Given the description of an element on the screen output the (x, y) to click on. 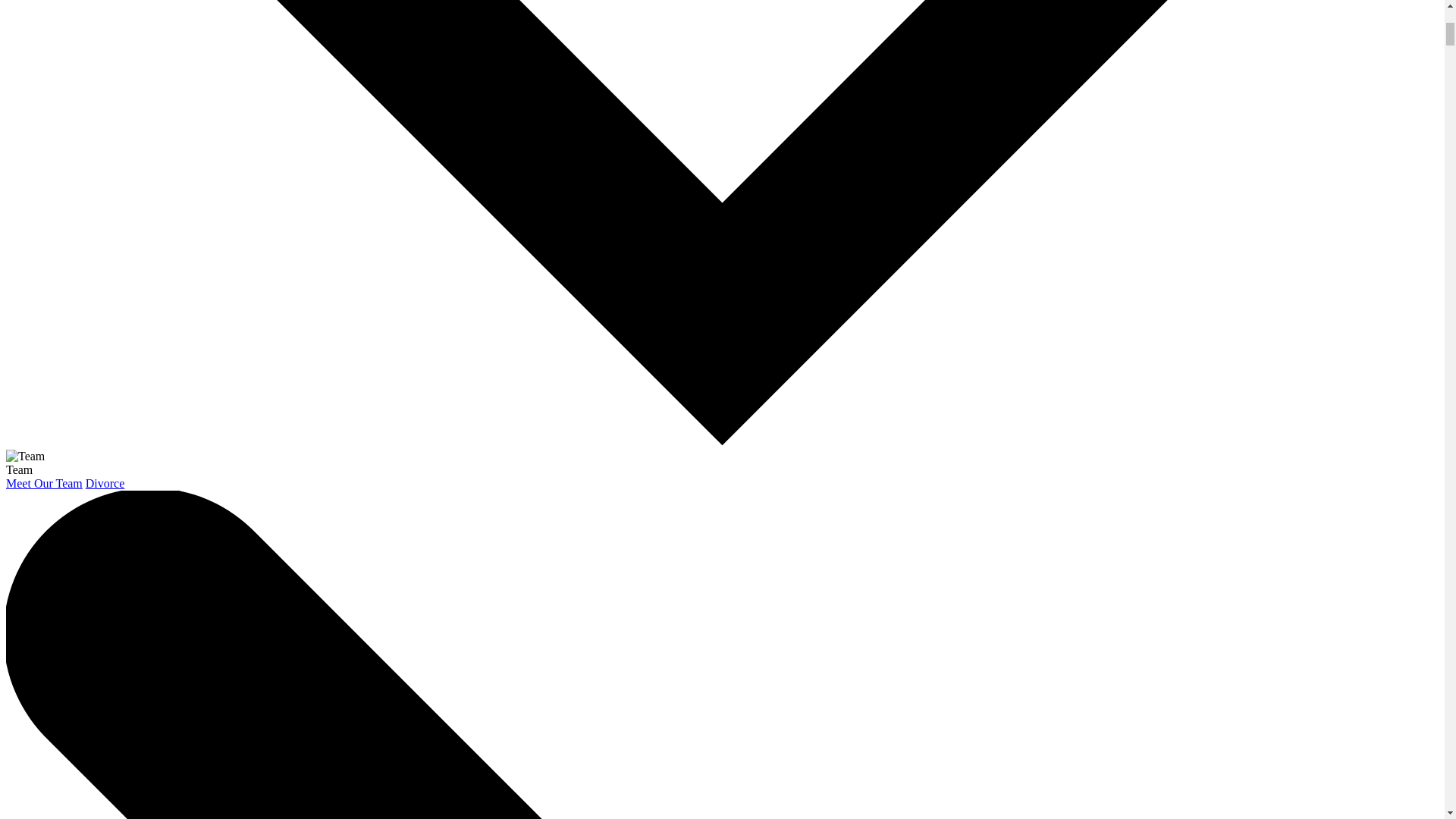
Meet Our Team (43, 482)
Meet Our Team (43, 482)
